Given the description of an element on the screen output the (x, y) to click on. 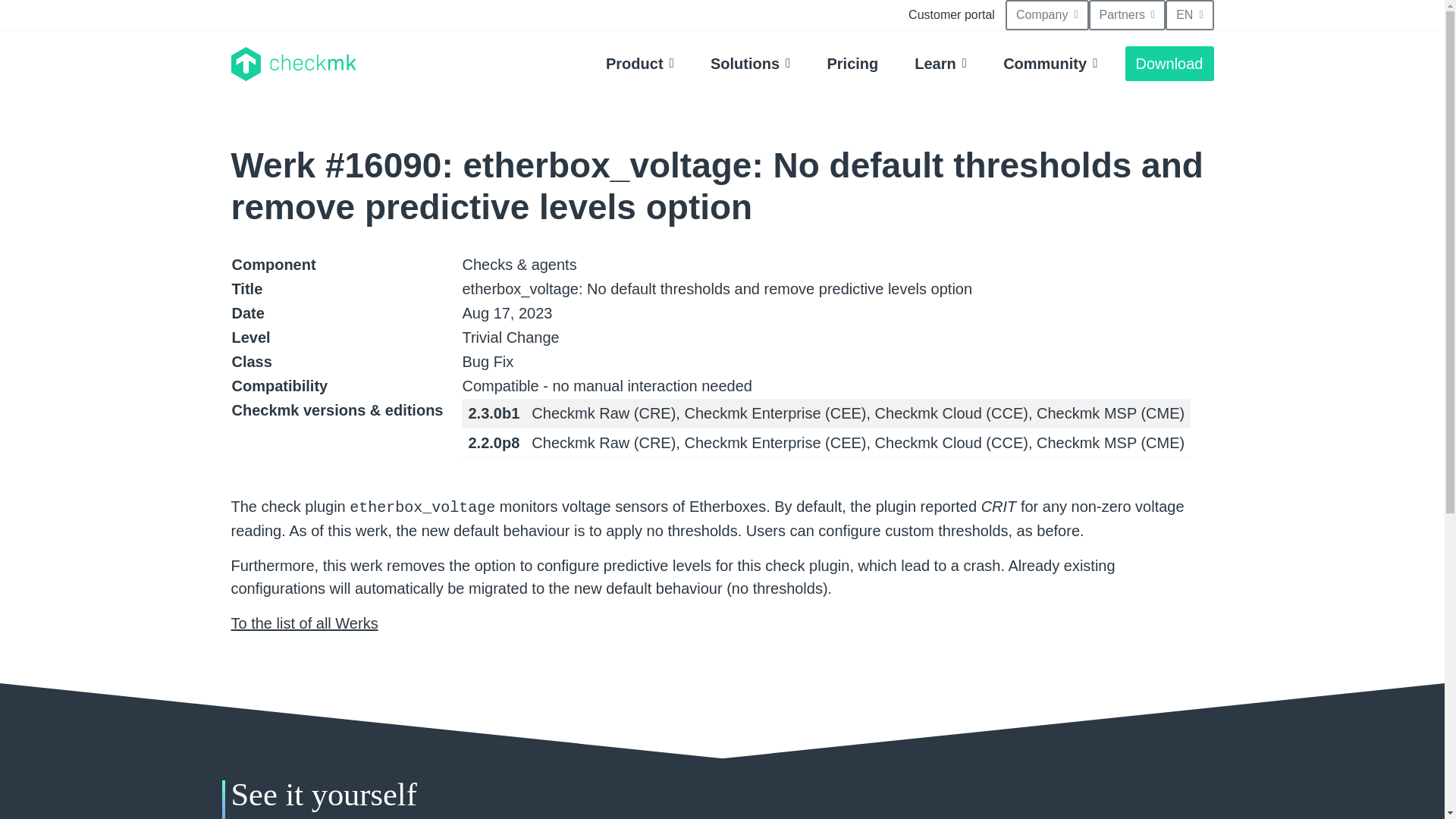
Customer portal (952, 15)
EN (1189, 15)
Product (639, 63)
Solutions (750, 63)
Partners (1127, 15)
Checkmk (292, 63)
Company (1047, 15)
